Given the description of an element on the screen output the (x, y) to click on. 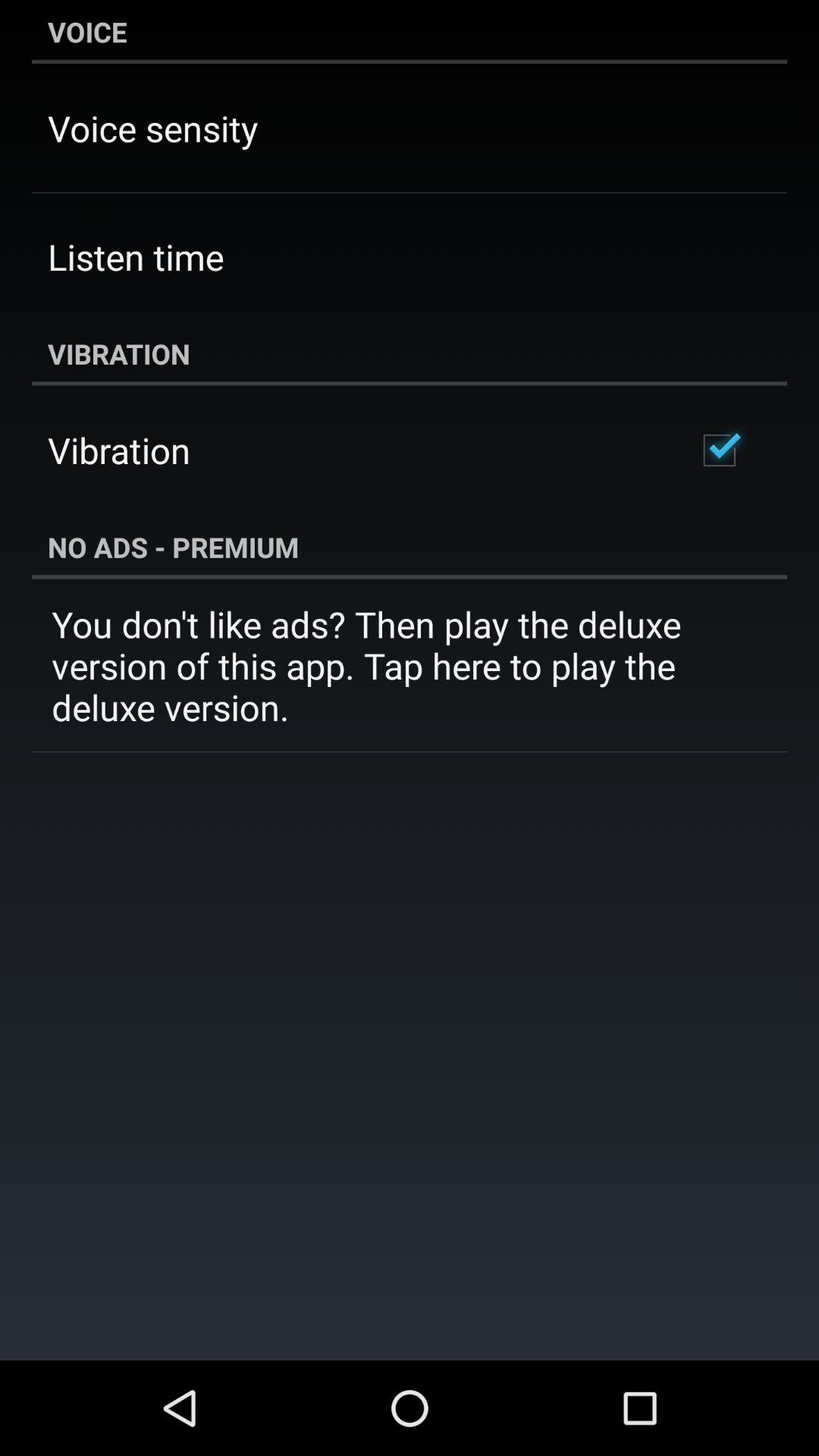
scroll until the no ads - premium (409, 546)
